Given the description of an element on the screen output the (x, y) to click on. 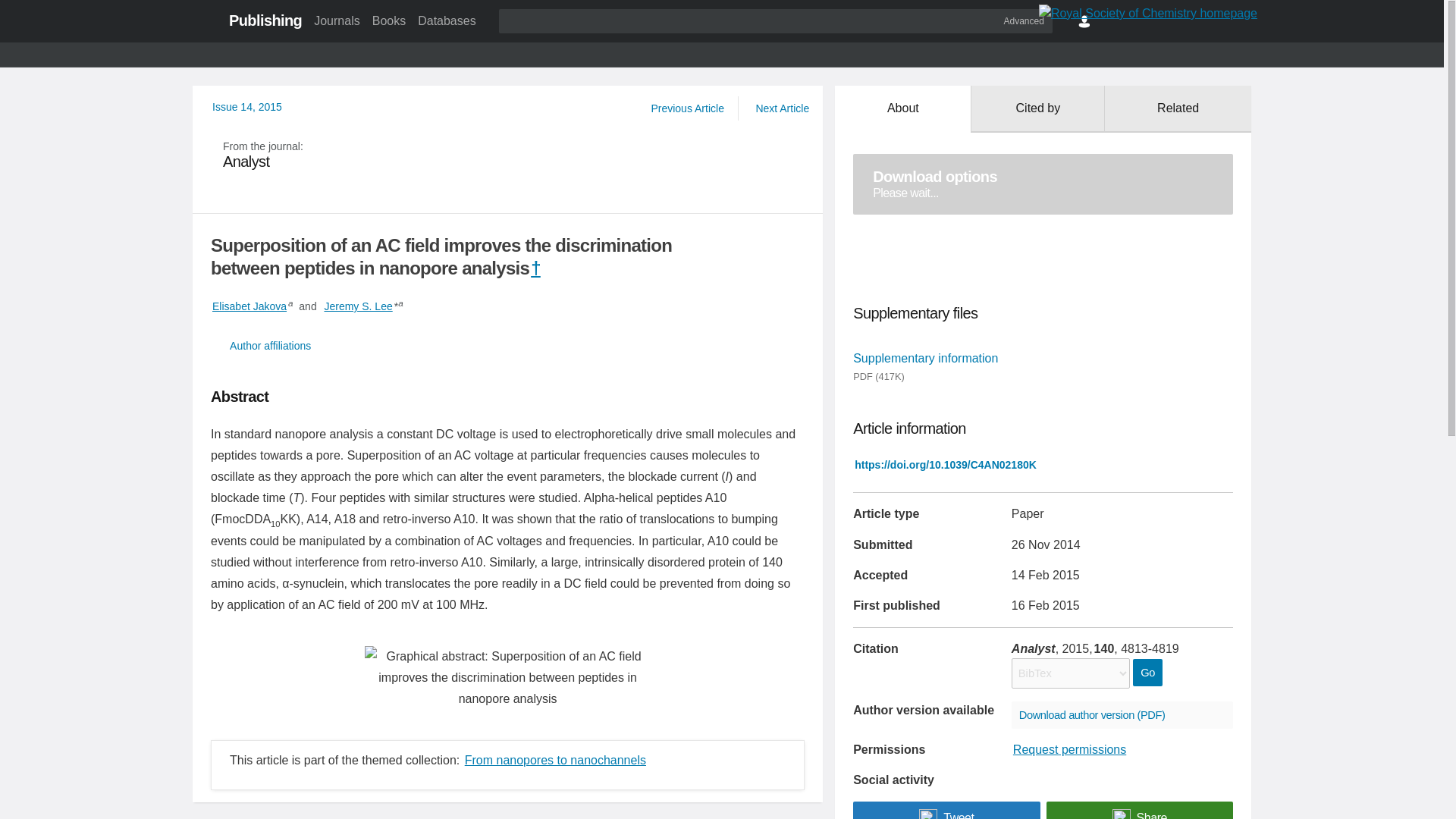
Advanced (1023, 20)
Publishing (264, 20)
Journals (336, 20)
About (902, 108)
Related (1177, 108)
Jeremy S. Lee (357, 305)
From nanopores to nanochannels (555, 760)
Request permissions (1068, 749)
Issue 14, 2015 (247, 106)
